Given the description of an element on the screen output the (x, y) to click on. 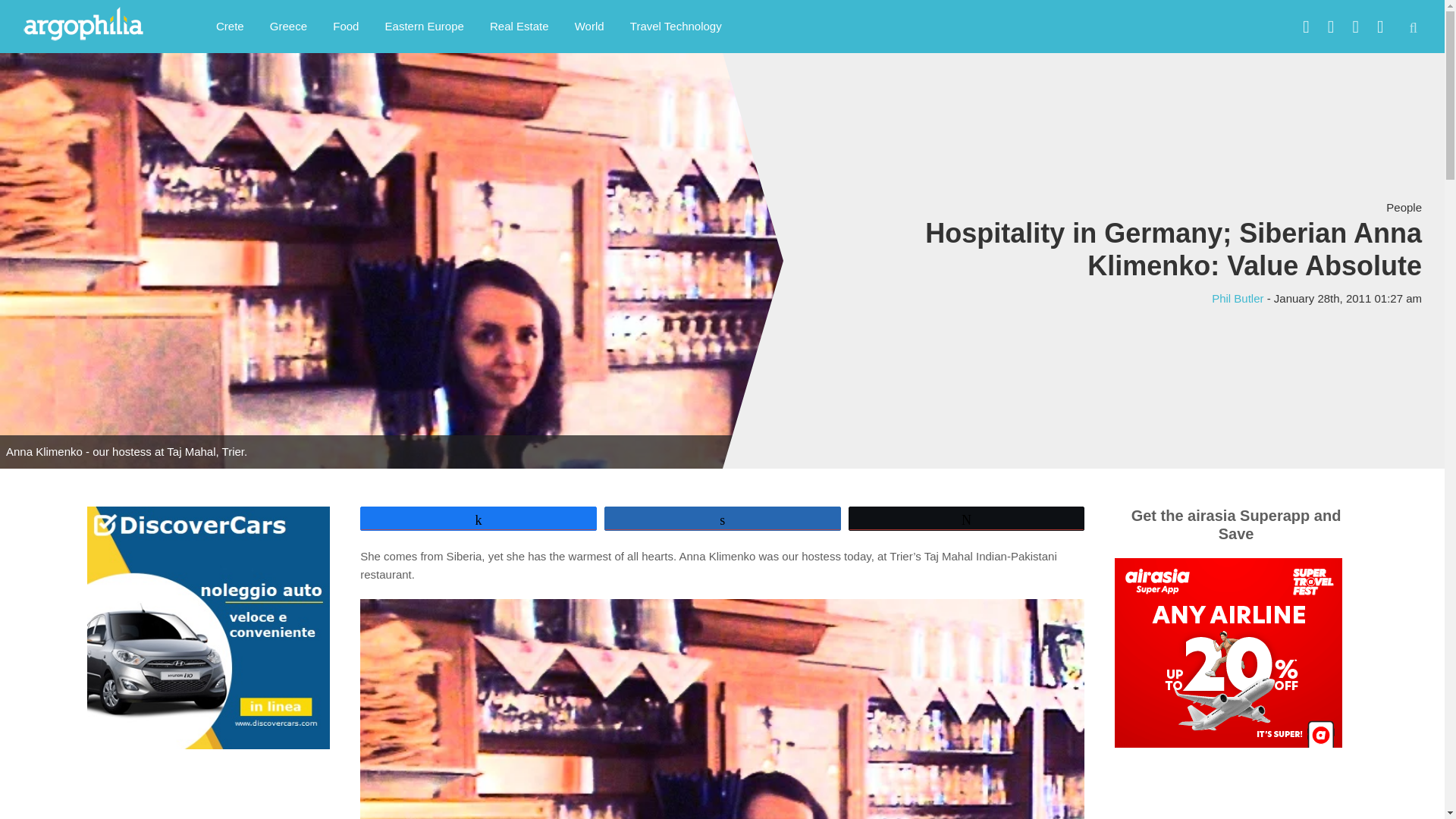
World (589, 26)
LinkedIn (1355, 27)
Travel Technology (675, 26)
Phil Butler (1237, 297)
Eastern Europe (425, 26)
Real Estate (519, 26)
Facebook (1305, 27)
Posts by Phil Butler (1237, 297)
People (1404, 206)
Twitter (1330, 27)
Greece (288, 26)
Food (345, 26)
Instagram (1380, 27)
Crete (230, 26)
